Given the description of an element on the screen output the (x, y) to click on. 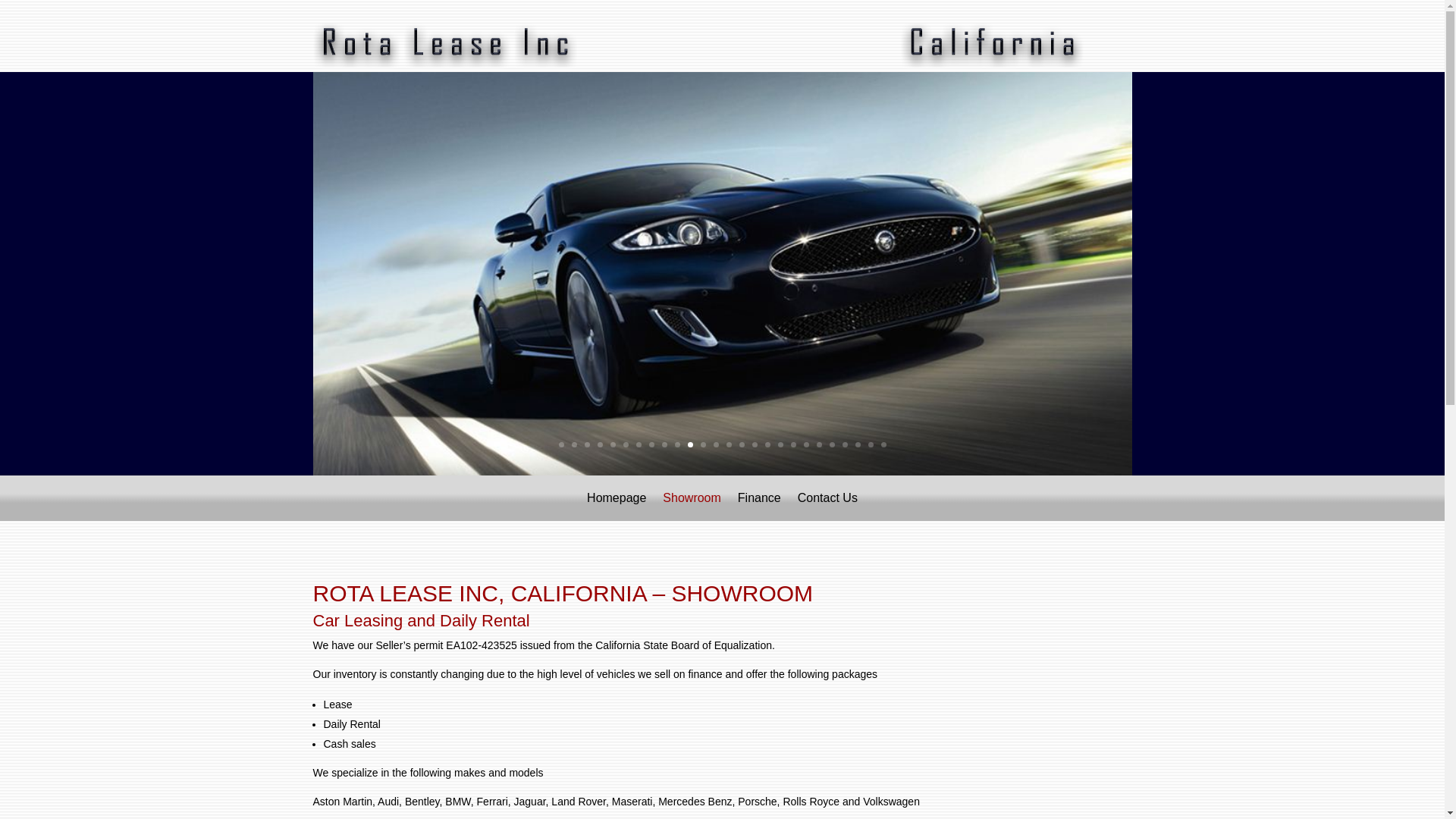
Showroom (691, 501)
